Given the description of an element on the screen output the (x, y) to click on. 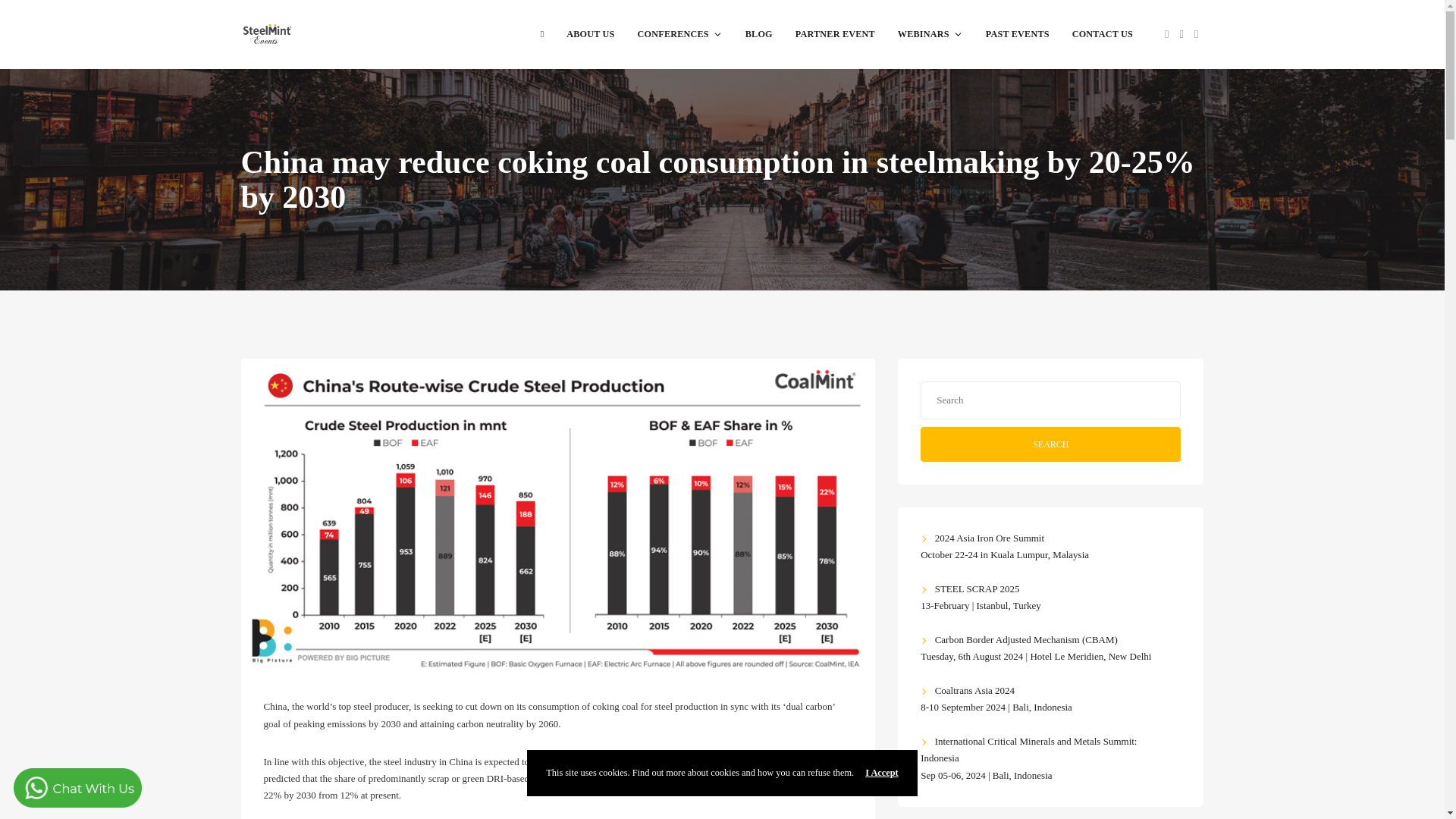
PAST EVENTS (1017, 33)
ABOUT US (590, 33)
BLOG (758, 33)
CONTACT US (1102, 33)
CONFERENCES (679, 33)
PARTNER EVENT (835, 33)
WEBINARS (930, 33)
